Given the description of an element on the screen output the (x, y) to click on. 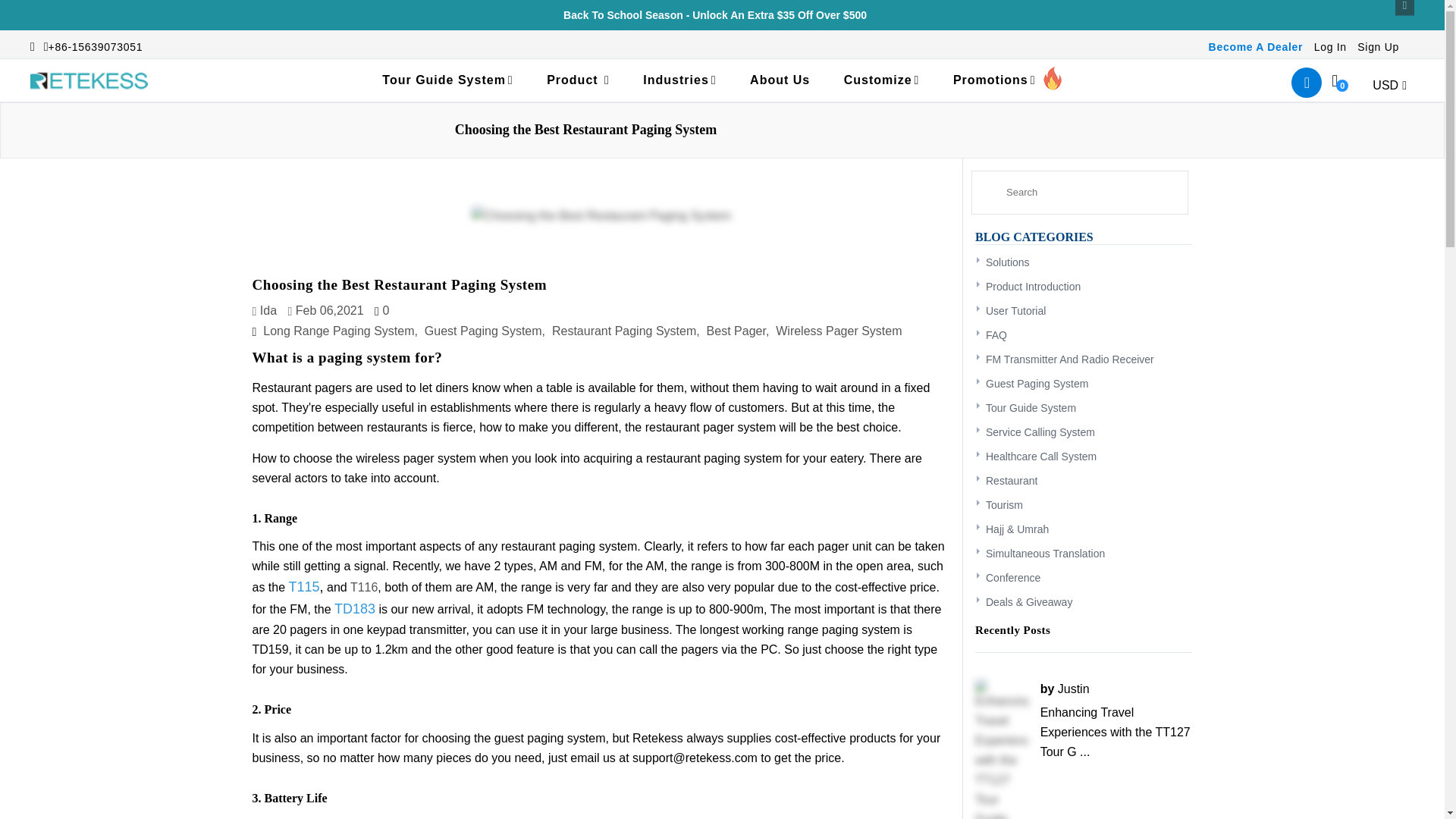
Log In (1330, 46)
About Us (780, 80)
Retekess guest pager system restaurant  (354, 608)
Retekess (89, 79)
Become A Dealer (1255, 46)
Guest pager system Retekess long range system  (304, 586)
Tour Guide System (446, 80)
Promotions (1007, 80)
Sign Up (1377, 46)
T116 guest pager system coffee restaurant  (363, 586)
